Given the description of an element on the screen output the (x, y) to click on. 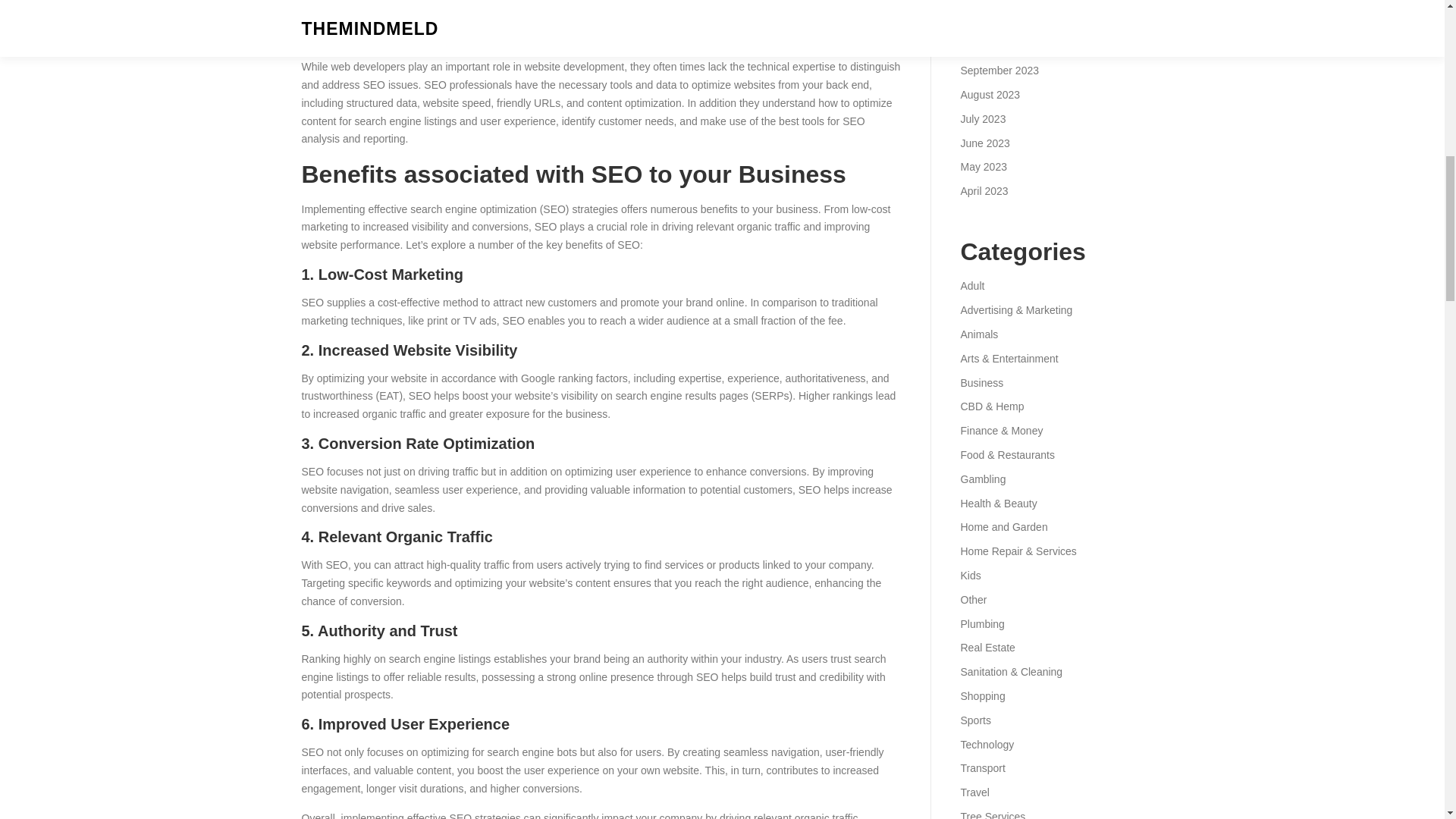
December 2023 (997, 2)
April 2023 (983, 191)
June 2023 (984, 143)
August 2023 (989, 94)
November 2023 (997, 22)
Business (981, 382)
October 2023 (992, 46)
May 2023 (982, 166)
Animals (978, 334)
July 2023 (982, 119)
